Given the description of an element on the screen output the (x, y) to click on. 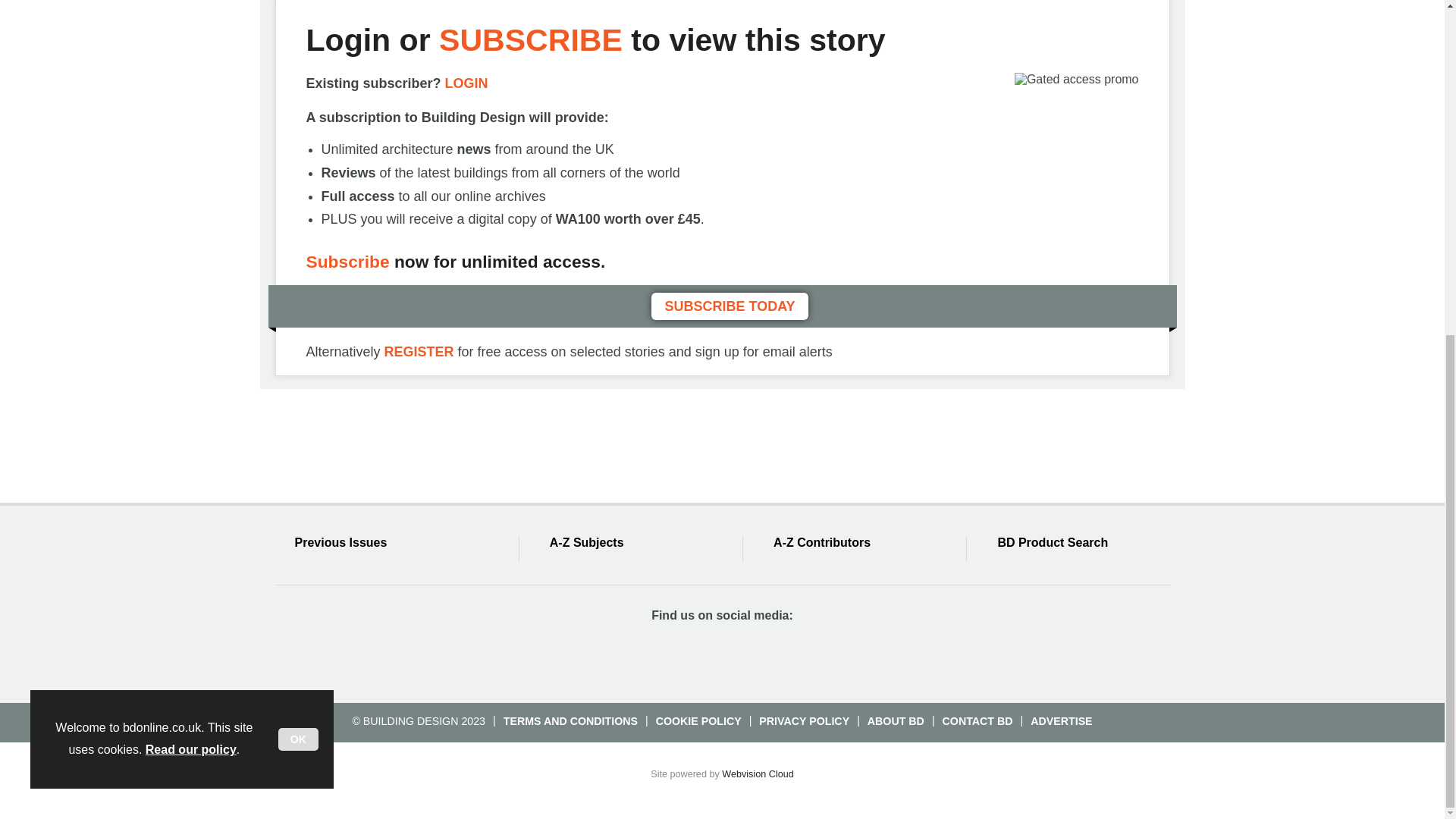
Email us (804, 656)
Connect with us on Facebook (639, 656)
Connect with us on Linked in (750, 656)
OK (298, 177)
Read our policy (190, 187)
Connect with us on Twitter (694, 656)
